Given the description of an element on the screen output the (x, y) to click on. 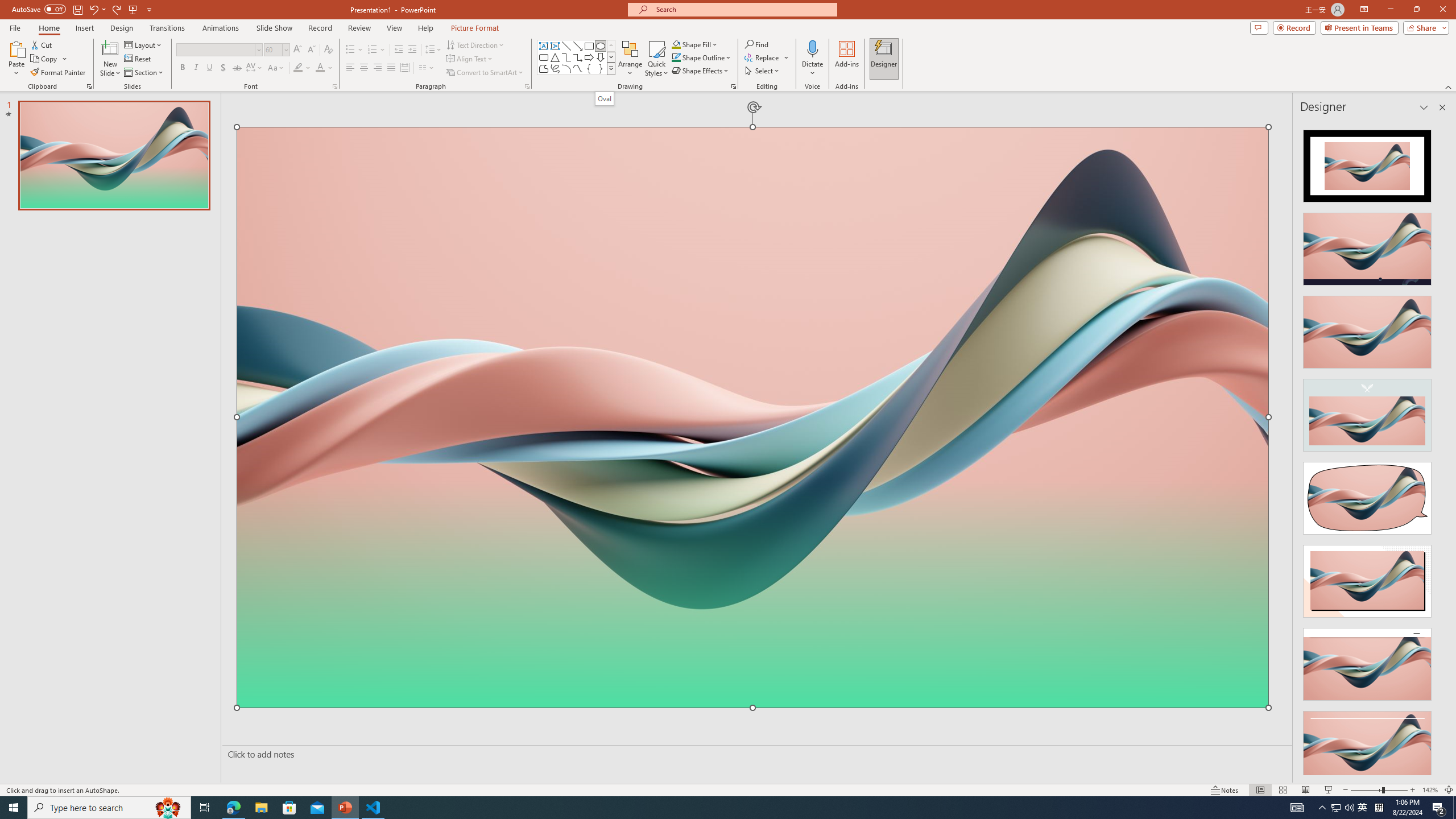
Zoom 142% (1430, 790)
Picture Format (475, 28)
